Given the description of an element on the screen output the (x, y) to click on. 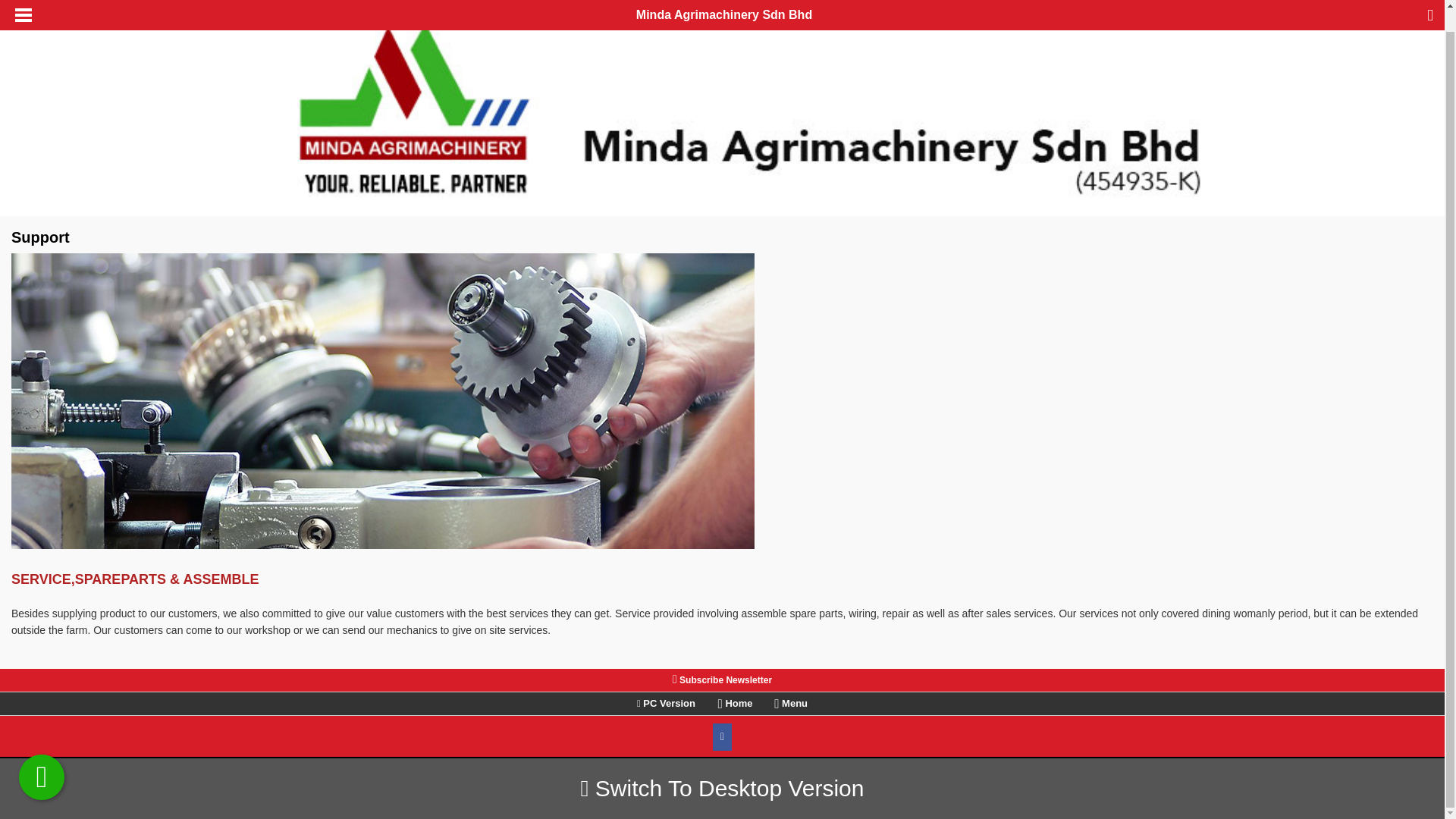
Privacy Policy (721, 777)
NEWPAGES (747, 792)
  Home (733, 703)
Switch To Desktop Version (722, 766)
PC Version   (668, 703)
Menu (791, 703)
